Given the description of an element on the screen output the (x, y) to click on. 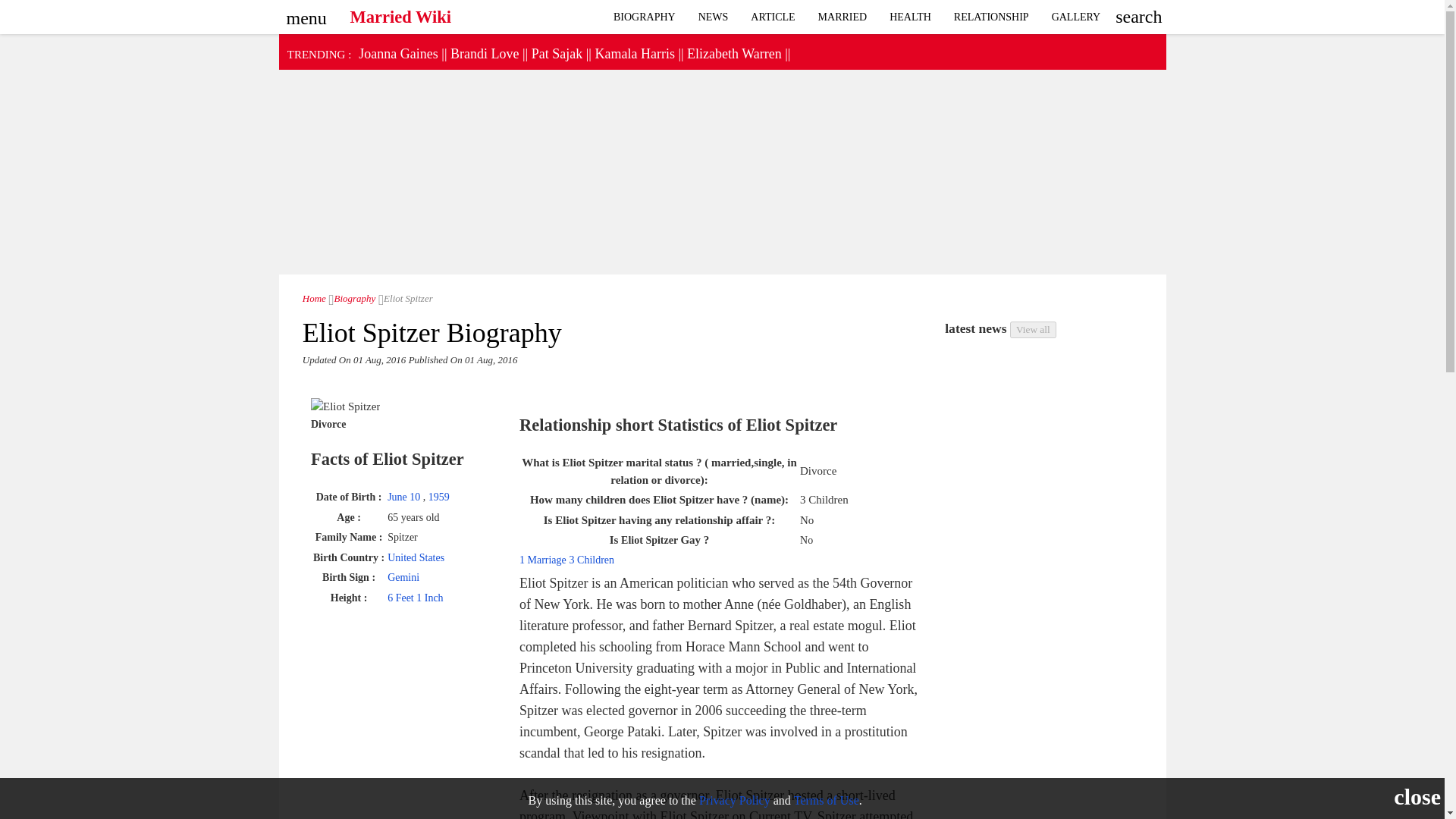
Privacy Policy (734, 799)
Terms of Use (826, 799)
Lifestyle (909, 17)
ARTICLE (772, 17)
Brandi Love (483, 53)
Brandi Love (483, 53)
News (713, 17)
HEALTH (909, 17)
Elizabeth Warren (734, 53)
Biography (352, 297)
Joanna Gaines (398, 53)
Gemini (403, 577)
Kamala Harris (634, 53)
June 10 (405, 496)
menu (302, 13)
